Given the description of an element on the screen output the (x, y) to click on. 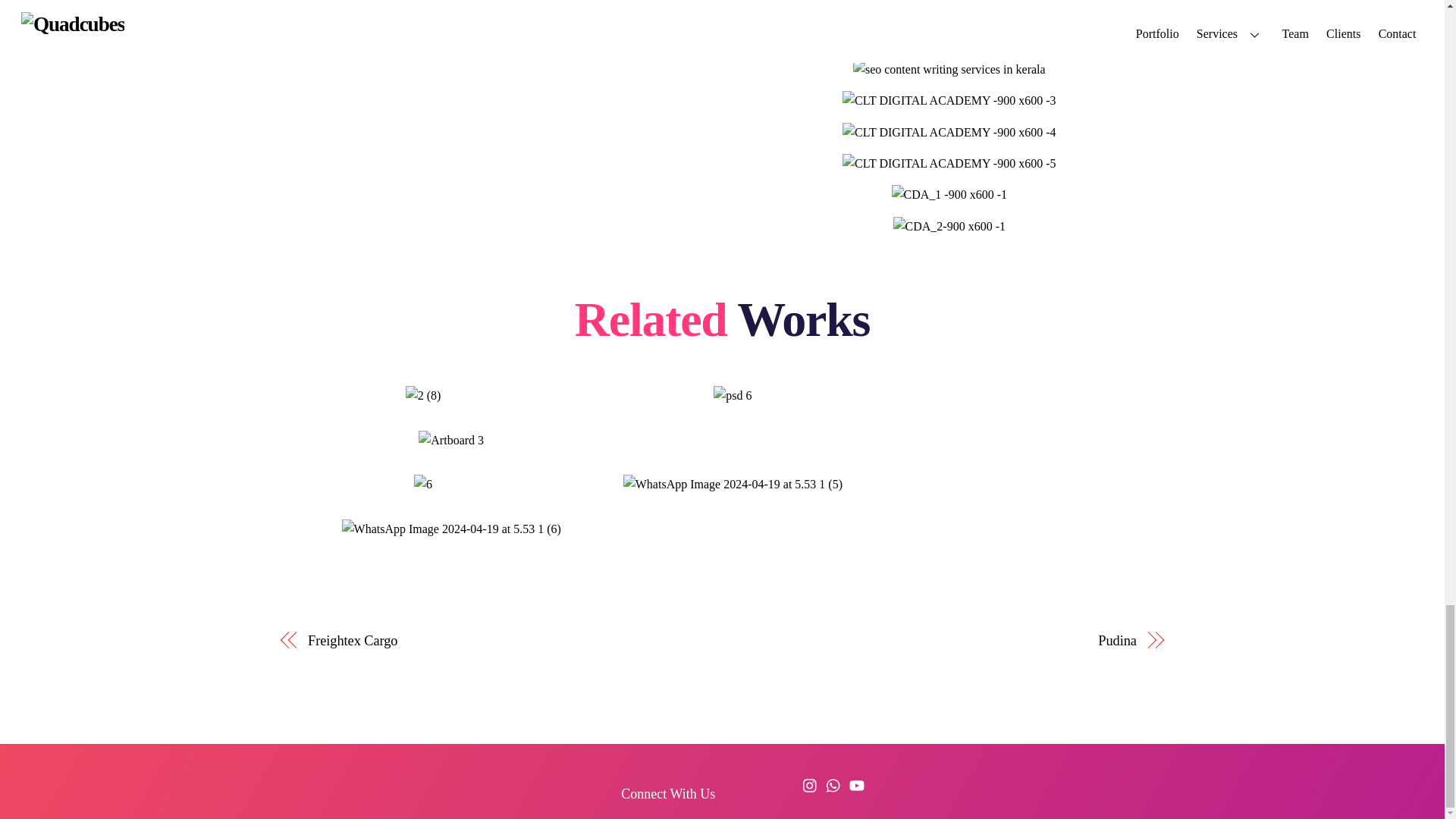
blog seo content writing services (949, 69)
brochure designers kerala (948, 37)
brochure designing (948, 8)
